Given the description of an element on the screen output the (x, y) to click on. 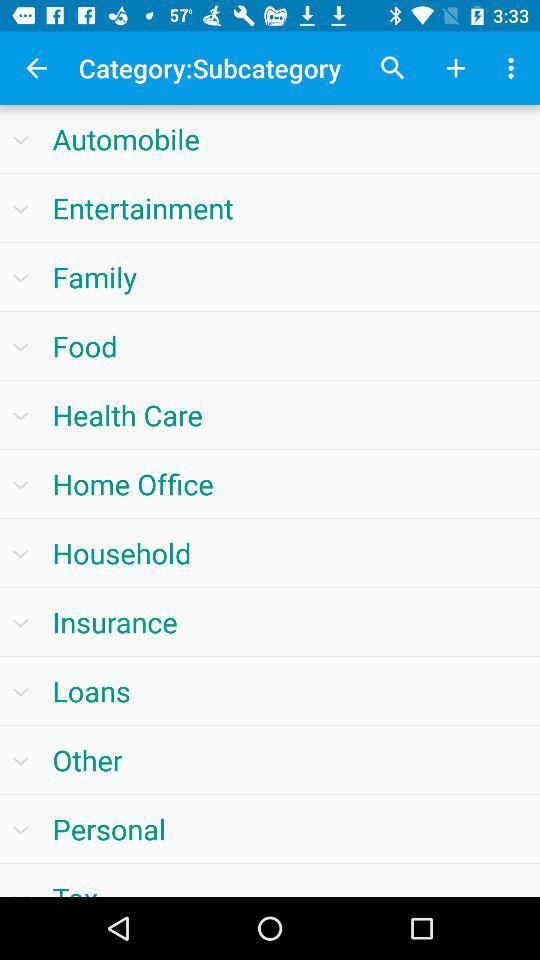
turn off the app to the left of the category:subcategory app (36, 68)
